Given the description of an element on the screen output the (x, y) to click on. 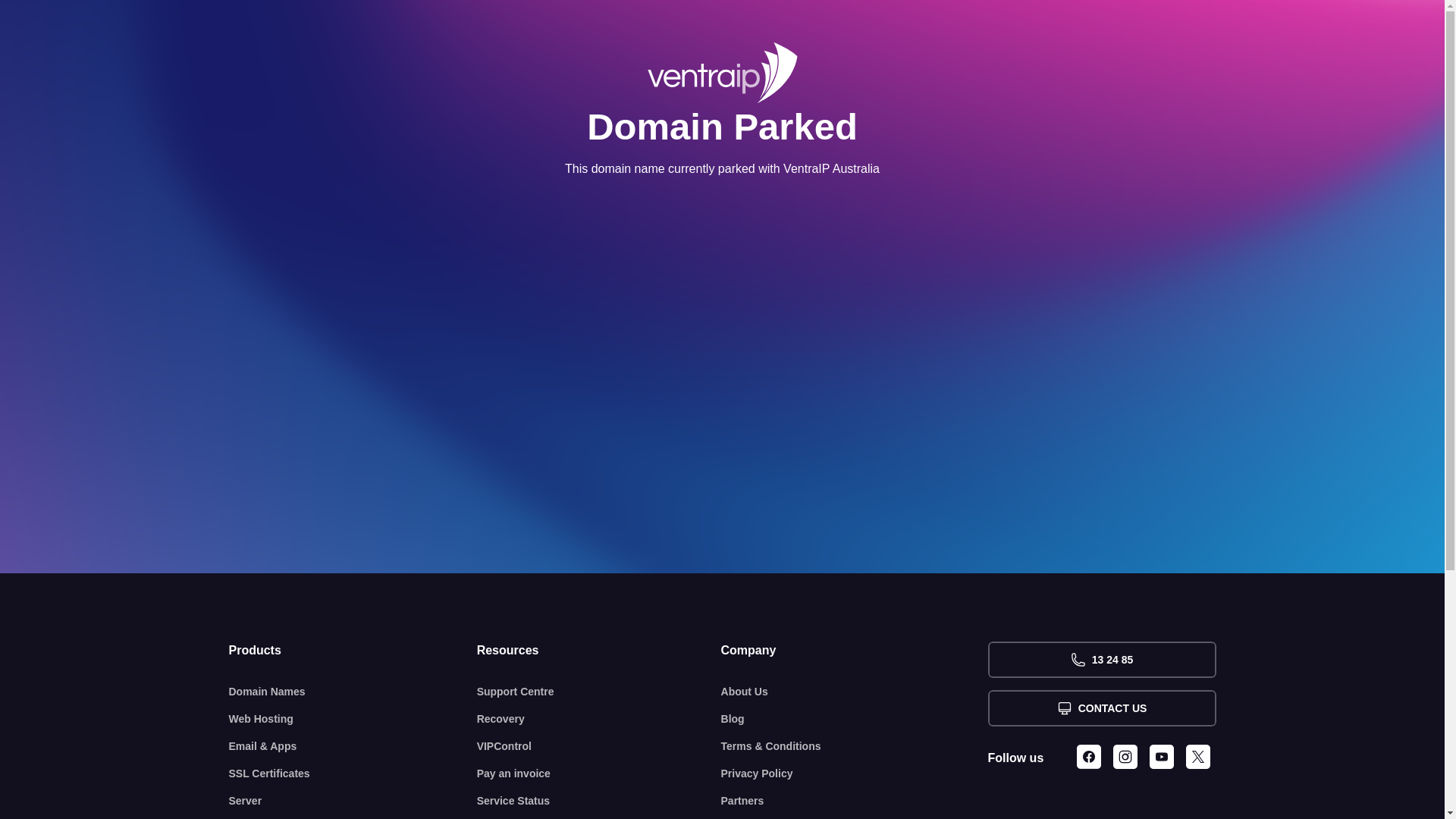
Server Element type: text (352, 800)
SSL Certificates Element type: text (352, 773)
Terms & Conditions Element type: text (854, 745)
Partners Element type: text (854, 800)
Web Hosting Element type: text (352, 718)
Recovery Element type: text (598, 718)
About Us Element type: text (854, 691)
Privacy Policy Element type: text (854, 773)
Domain Names Element type: text (352, 691)
Blog Element type: text (854, 718)
Service Status Element type: text (598, 800)
VIPControl Element type: text (598, 745)
Email & Apps Element type: text (352, 745)
13 24 85 Element type: text (1101, 659)
Pay an invoice Element type: text (598, 773)
Support Centre Element type: text (598, 691)
CONTACT US Element type: text (1101, 708)
